Given the description of an element on the screen output the (x, y) to click on. 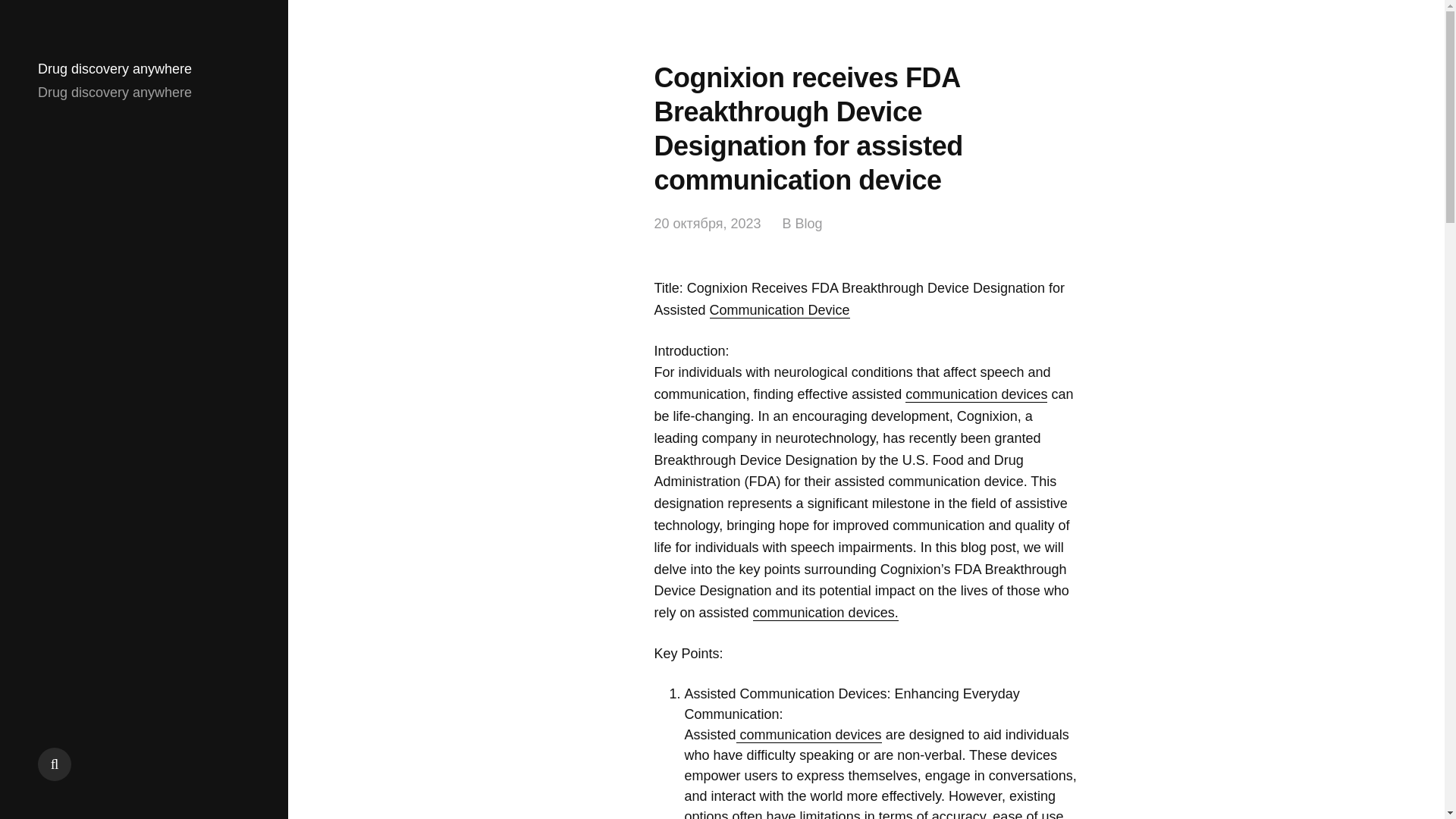
Drug discovery anywhere (114, 68)
Communication Device (780, 310)
communication devices. (825, 612)
communication devices (975, 394)
communication devices (809, 734)
Blog (808, 223)
